Given the description of an element on the screen output the (x, y) to click on. 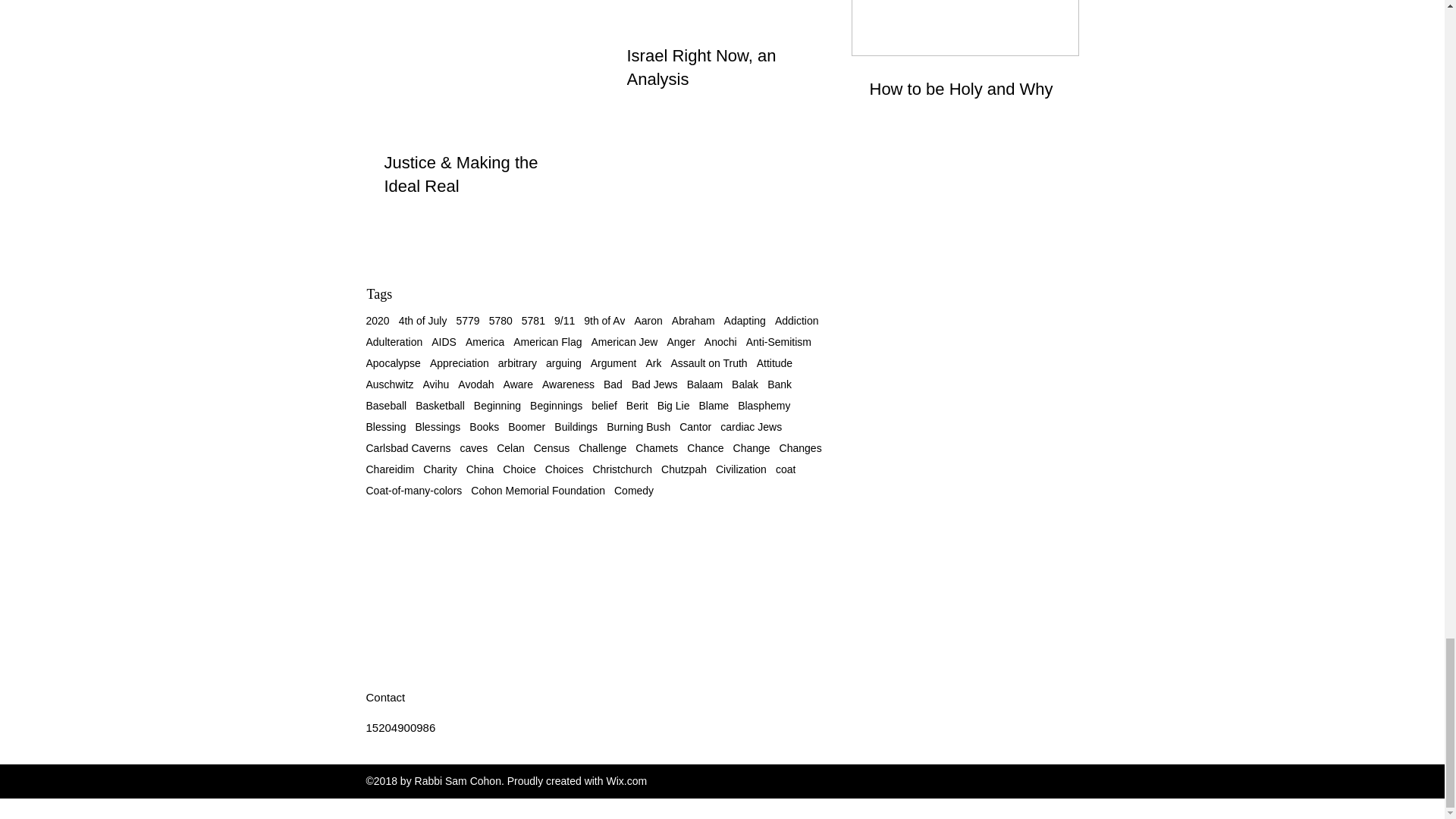
American Flag (546, 341)
AIDS (443, 341)
Anti-Semitism (777, 341)
Appreciation (459, 363)
Adapting (744, 320)
American Jew (624, 341)
Ark (653, 363)
arguing (563, 363)
Israel Right Now, an Analysis (721, 68)
5781 (532, 320)
